Given the description of an element on the screen output the (x, y) to click on. 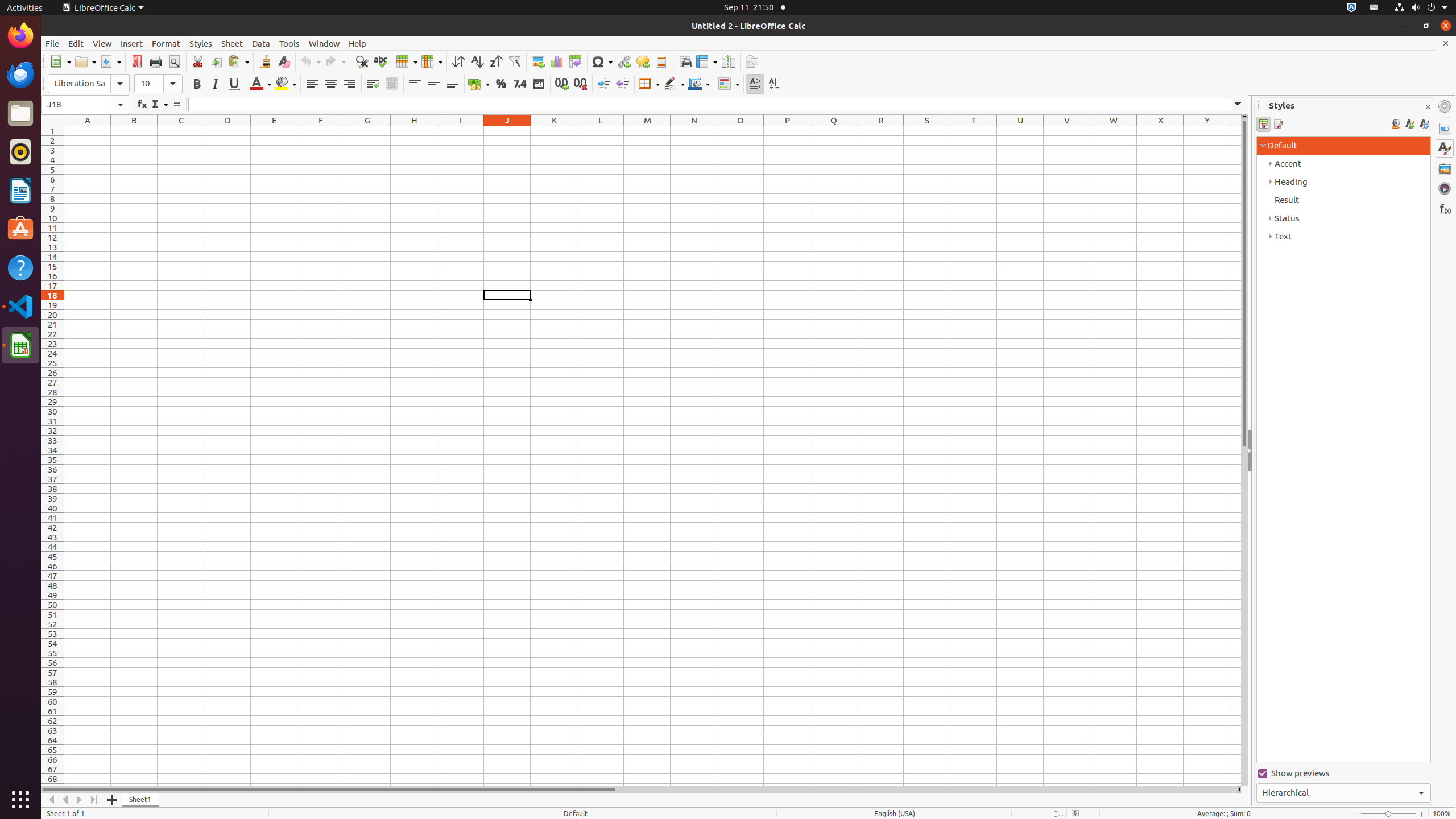
View Element type: menu (102, 43)
LibreOffice Calc Element type: push-button (20, 344)
Bold Element type: toggle-button (196, 83)
Font Size Element type: combo-box (158, 83)
Print Area Element type: push-button (684, 61)
